Given the description of an element on the screen output the (x, y) to click on. 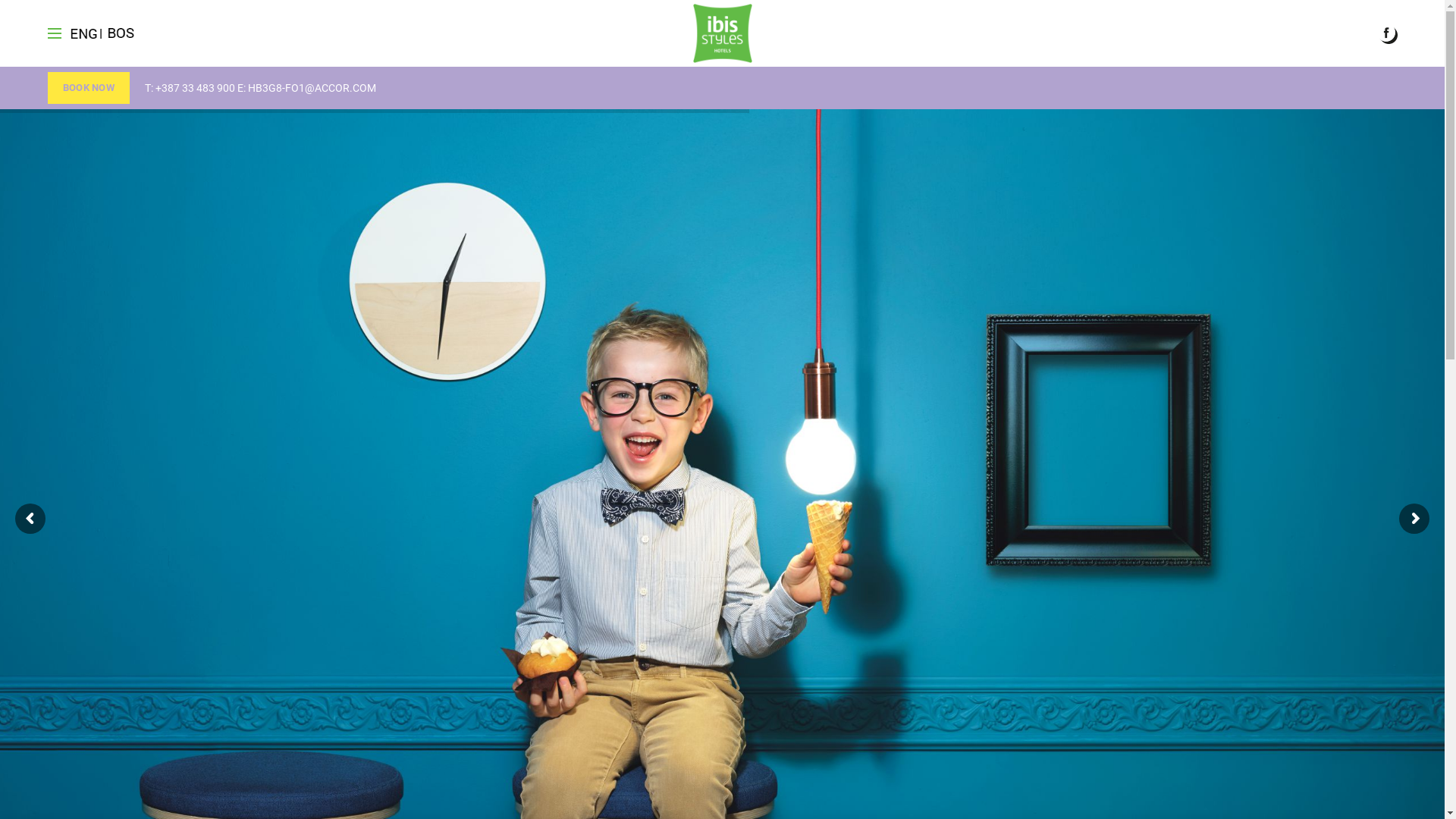
BOOK NOW Element type: text (88, 87)
"Facebook" Element type: hover (1387, 32)
BOS Element type: text (120, 33)
HB3G8-FO1@ACCOR.COM Element type: text (311, 87)
ENG Element type: text (86, 33)
